Given the description of an element on the screen output the (x, y) to click on. 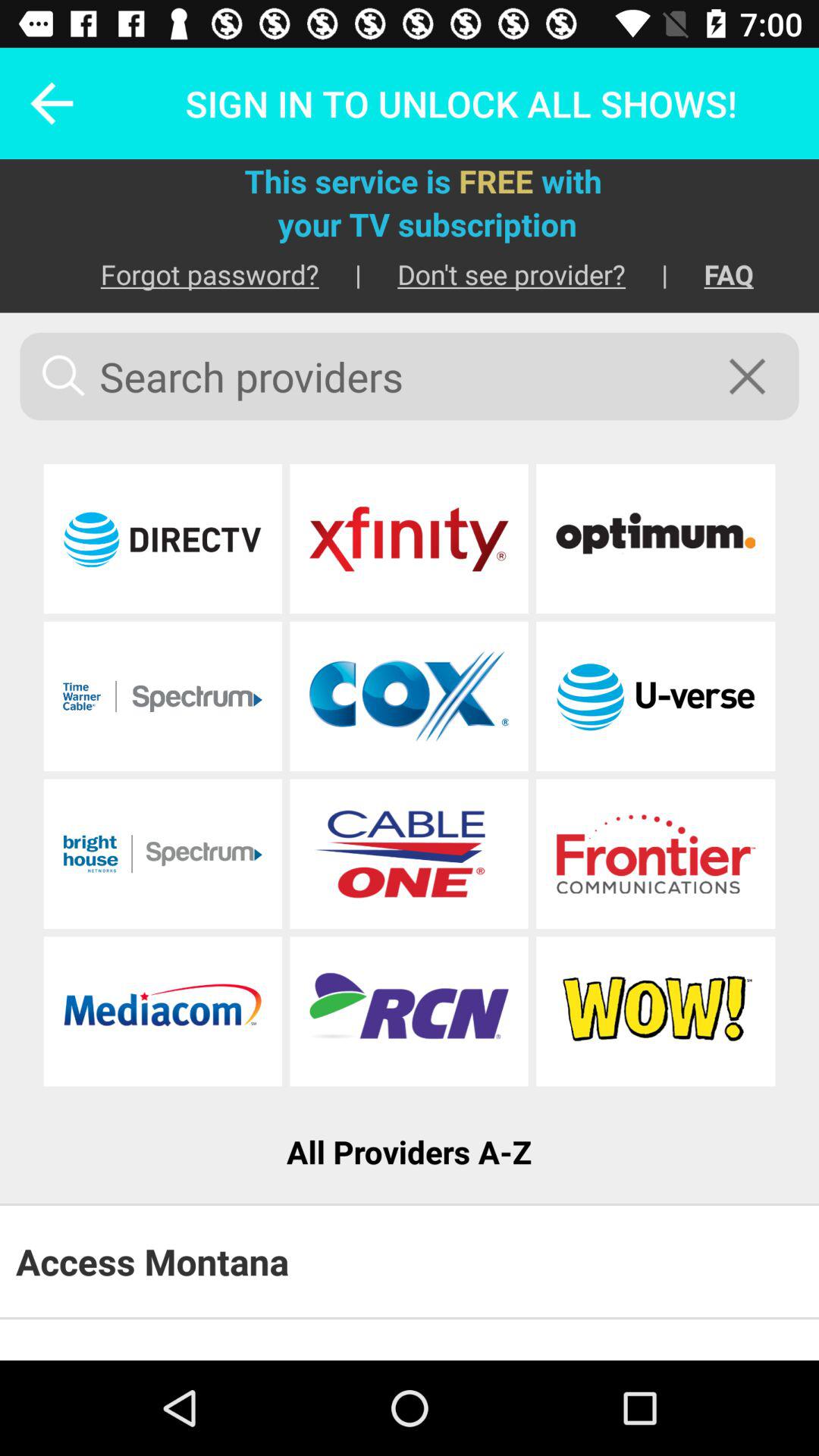
stop search (757, 376)
